Given the description of an element on the screen output the (x, y) to click on. 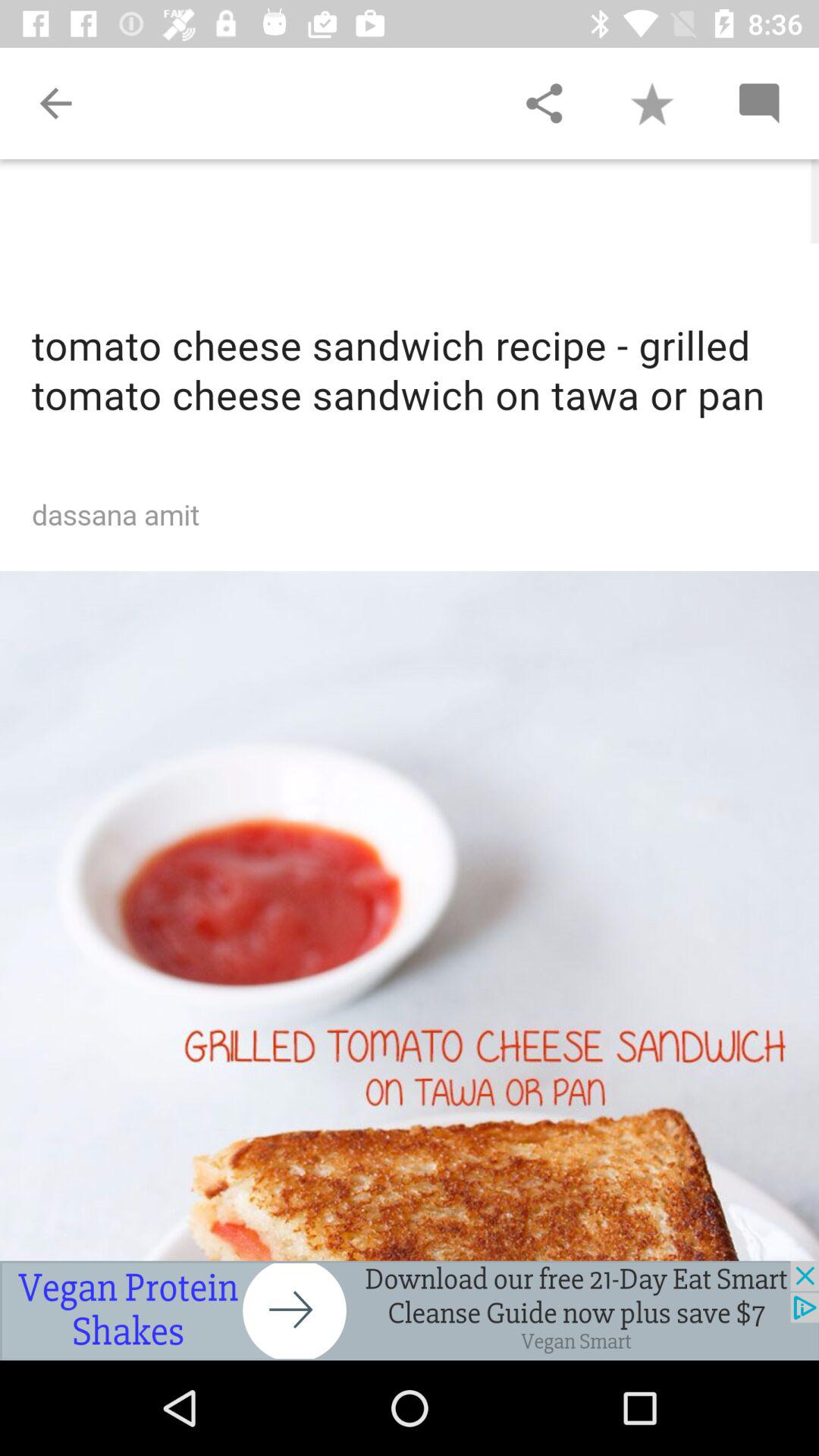
select the share link (543, 103)
